Given the description of an element on the screen output the (x, y) to click on. 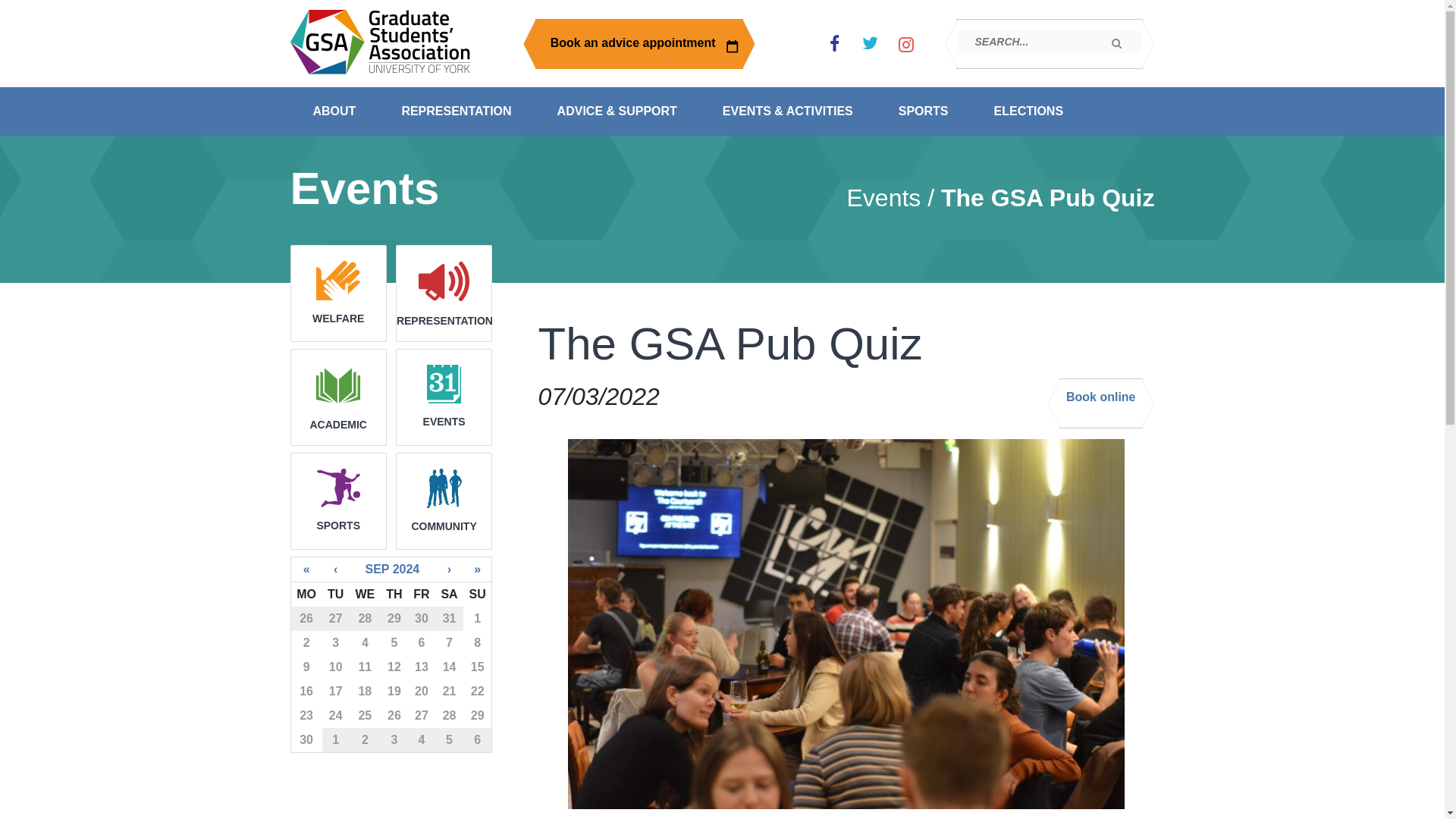
ELECTIONS (1028, 110)
SPORTS (923, 110)
REPRESENTATION (456, 110)
Book an advice appointment (638, 43)
ABOUT (333, 110)
